Given the description of an element on the screen output the (x, y) to click on. 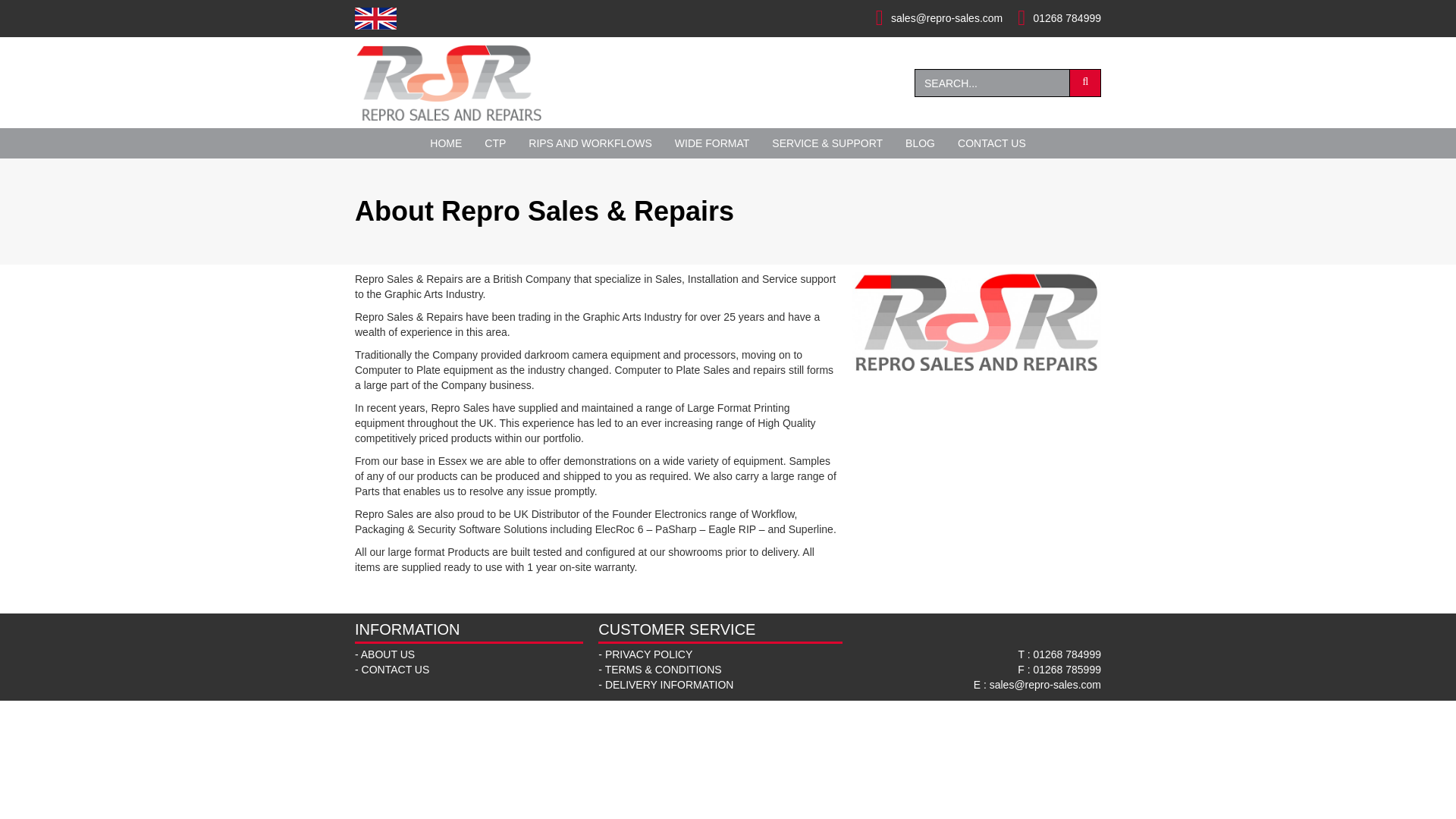
RIPS AND WORKFLOWS (589, 142)
CONTACT US (395, 669)
01268 784999 (1066, 654)
HOME (446, 142)
PRIVACY POLICY (649, 654)
WIDE FORMAT (712, 142)
DELIVERY INFORMATION (669, 684)
01268 784999 (1066, 18)
ABOUT US (387, 654)
CONTACT US (991, 142)
